Given the description of an element on the screen output the (x, y) to click on. 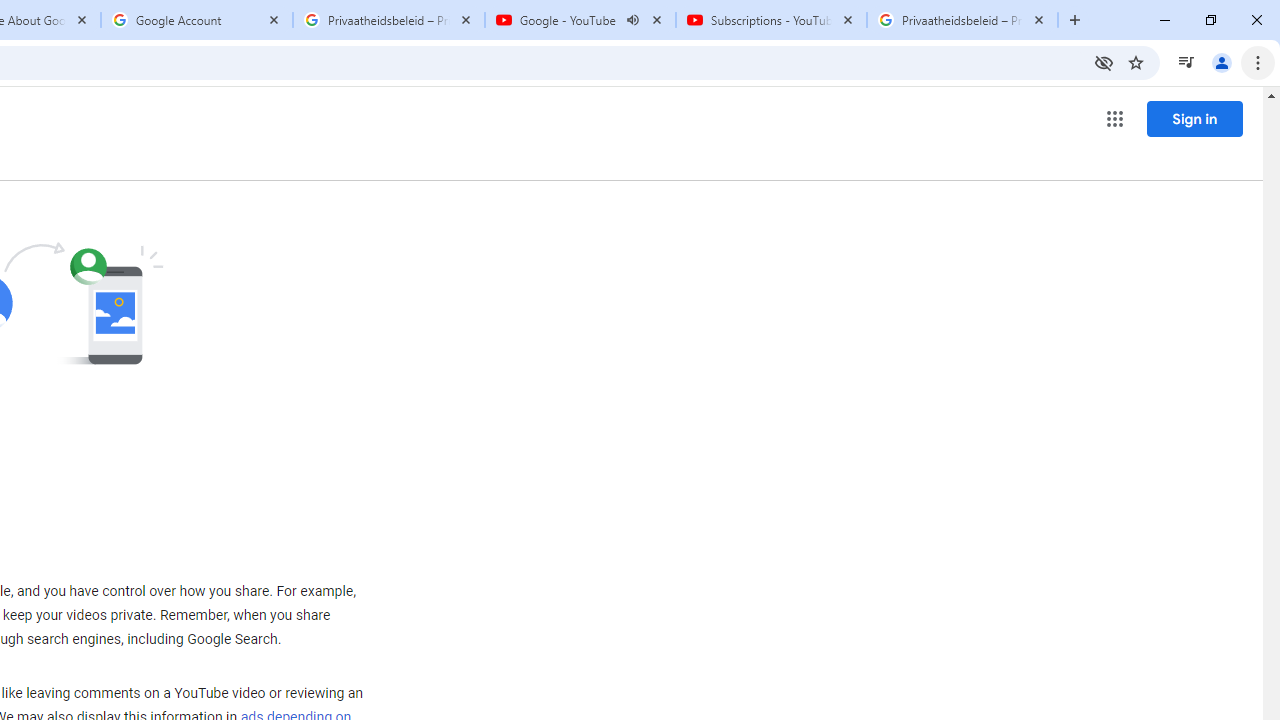
Subscriptions - YouTube (770, 20)
Google Account (197, 20)
